Given the description of an element on the screen output the (x, y) to click on. 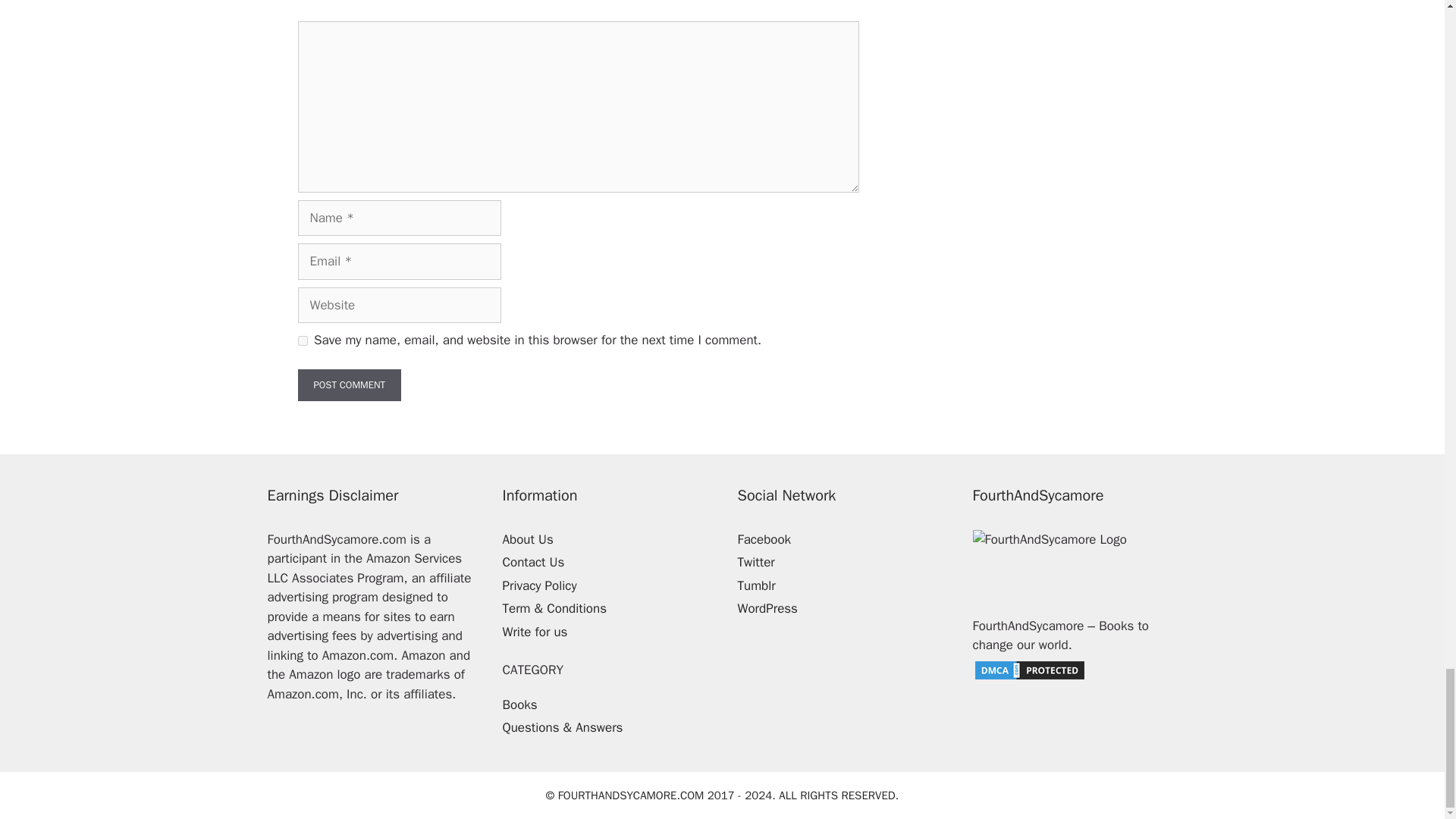
yes (302, 340)
Post Comment (349, 385)
DMCA.com Protection Status (1029, 677)
